Given the description of an element on the screen output the (x, y) to click on. 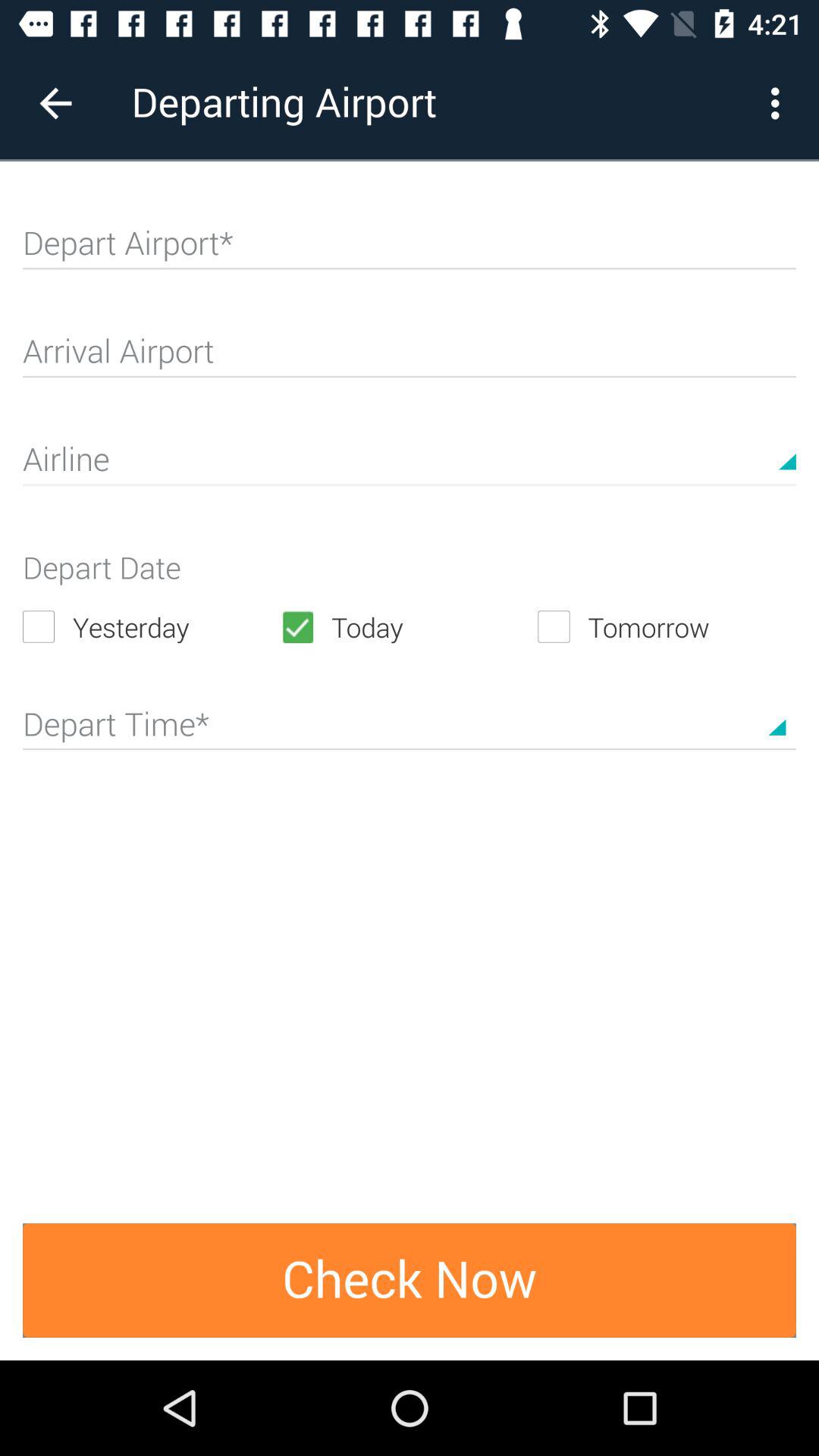
click the icon to the right of the yesterday item (409, 626)
